Given the description of an element on the screen output the (x, y) to click on. 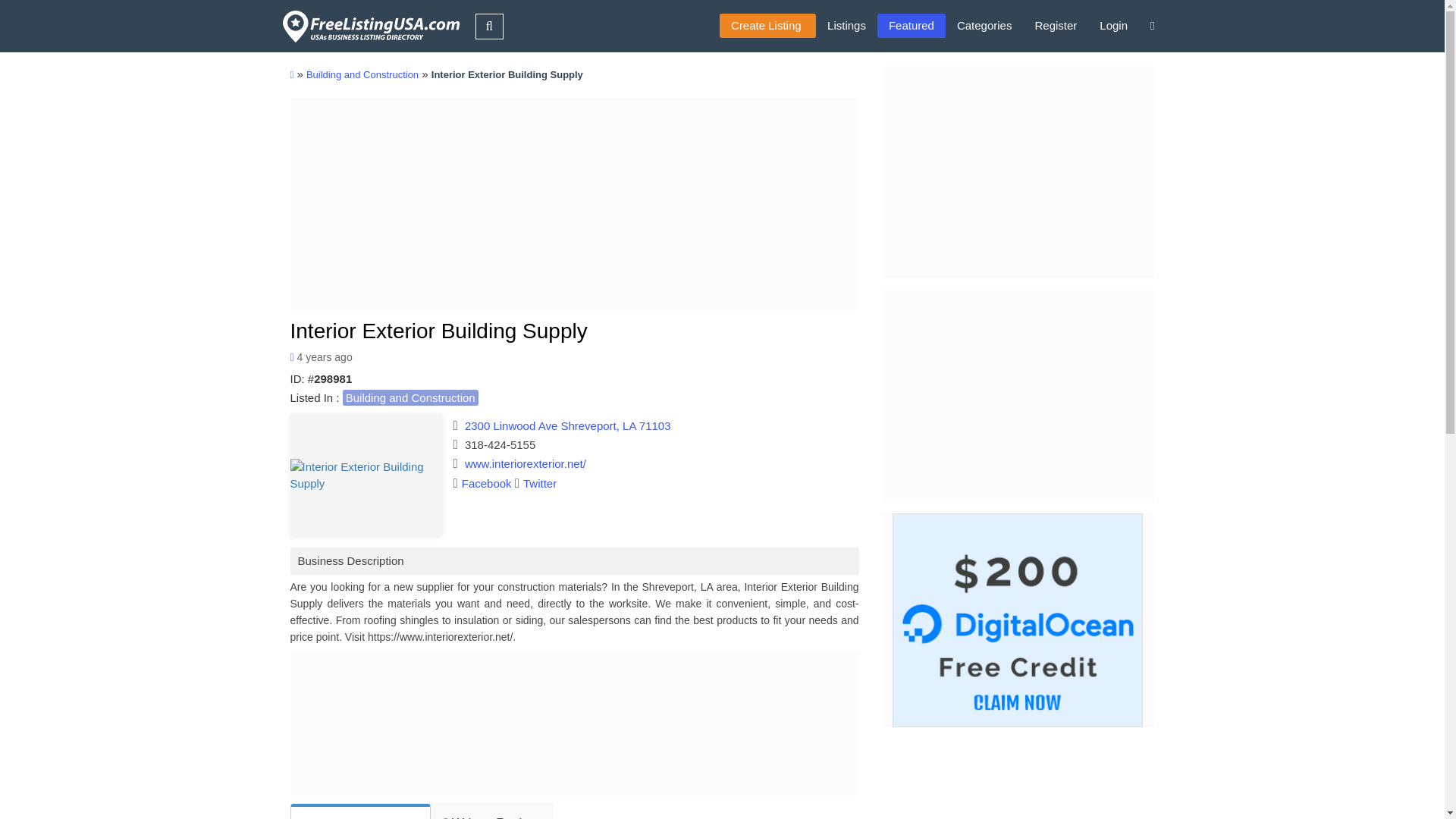
FreeListingUSA logo (369, 25)
2300 Linwood Ave Shreveport, LA 71103 (567, 425)
Featured (910, 25)
Building and Construction (362, 74)
Listings (846, 25)
Interior Exterior Building Supply (365, 474)
Twitter (535, 482)
Categories (983, 25)
318-424-5155 (499, 444)
Write a Review (490, 811)
